Given the description of an element on the screen output the (x, y) to click on. 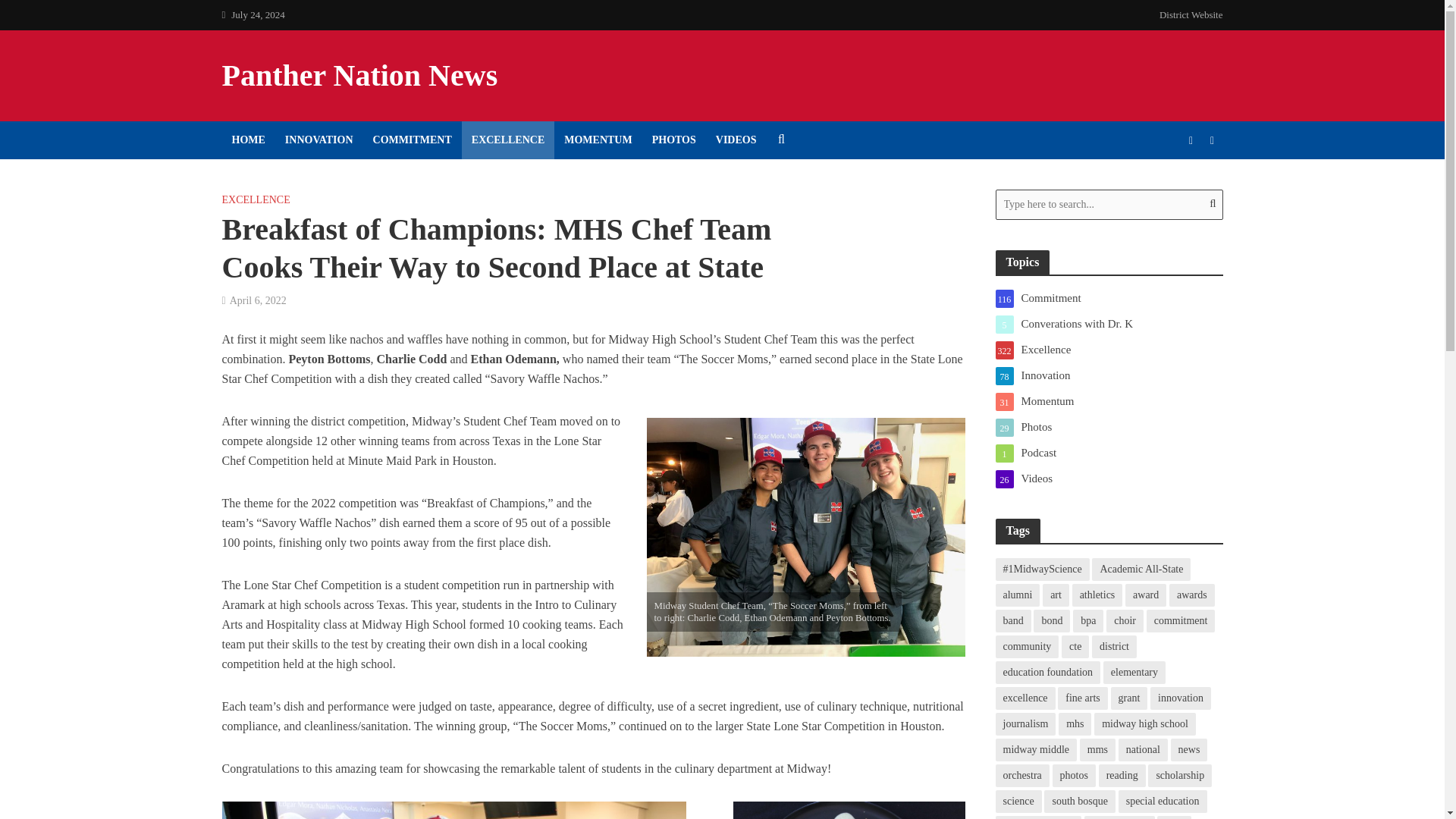
EXCELLENCE (255, 201)
MOMENTUM (598, 139)
HOME (248, 139)
PHOTOS (674, 139)
COMMITMENT (411, 139)
EXCELLENCE (507, 139)
Panther Nation News (359, 75)
INNOVATION (318, 139)
VIDEOS (736, 139)
District Website (1187, 15)
